Given the description of an element on the screen output the (x, y) to click on. 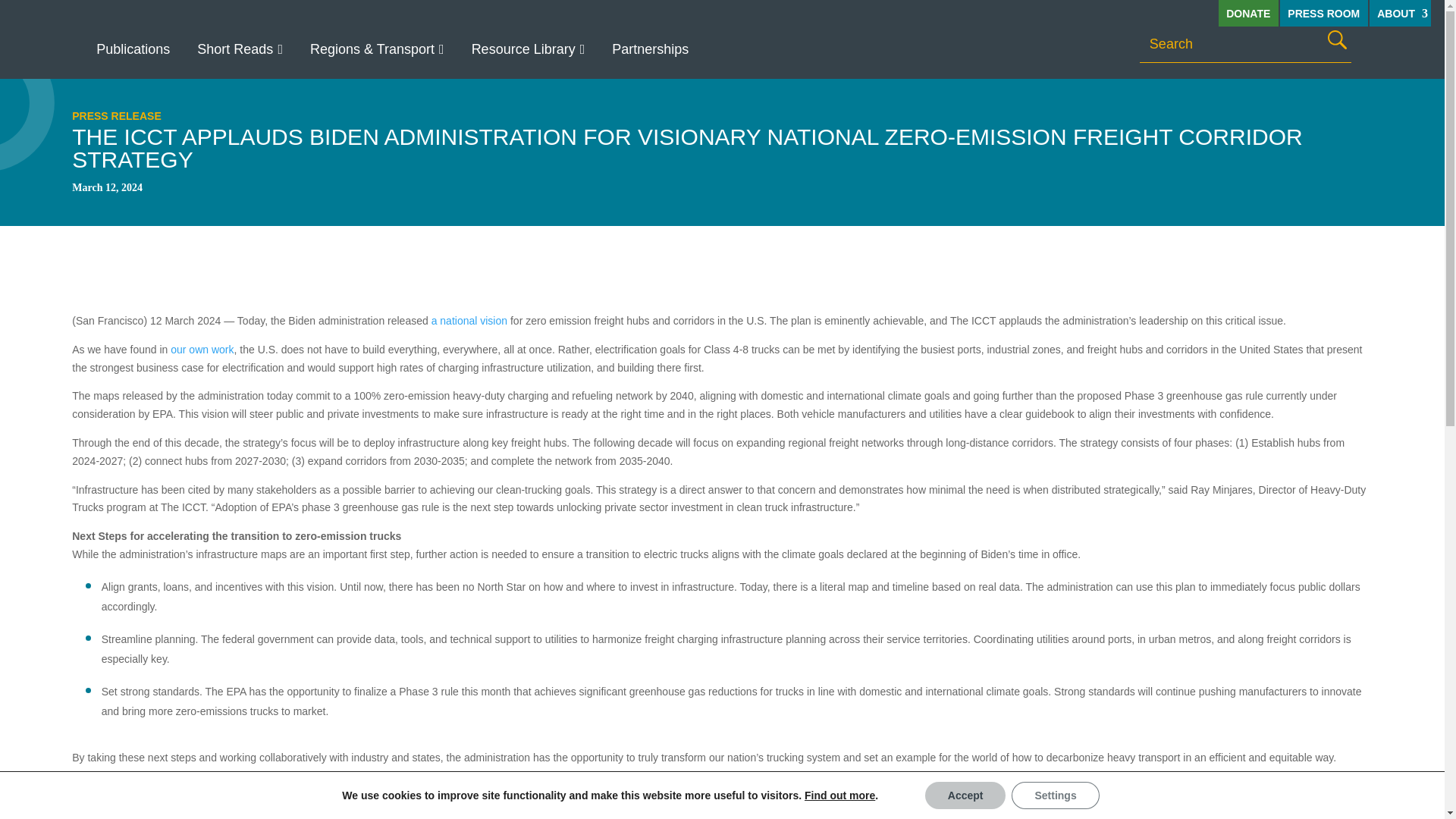
Short Reads (240, 48)
ABOUT (1400, 13)
Search (1337, 40)
PRESS ROOM (1323, 13)
Search (1337, 40)
Publications (132, 48)
DONATE (1248, 13)
